Given the description of an element on the screen output the (x, y) to click on. 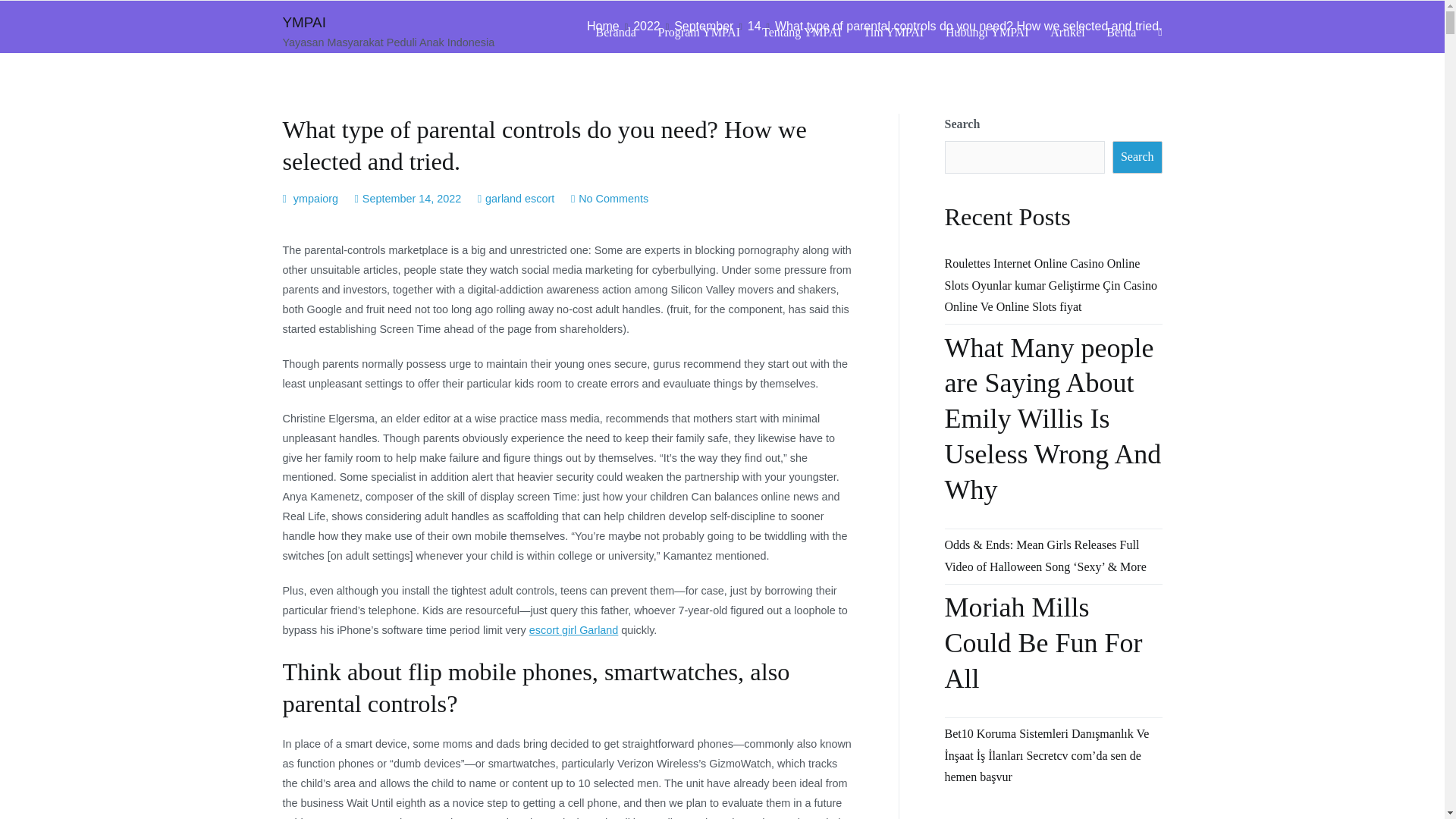
September (703, 25)
escort girl Garland (573, 630)
Search (28, 13)
ympaiorg (315, 198)
garland escort (519, 198)
Hubungi YMPAI (986, 33)
Search (1136, 156)
2022 (647, 25)
September 14, 2022 (411, 198)
YMPAI (303, 22)
Beranda (615, 33)
14 (754, 25)
Moriah Mills Could Be Fun For All (1052, 650)
Tim YMPAI (893, 33)
